Given the description of an element on the screen output the (x, y) to click on. 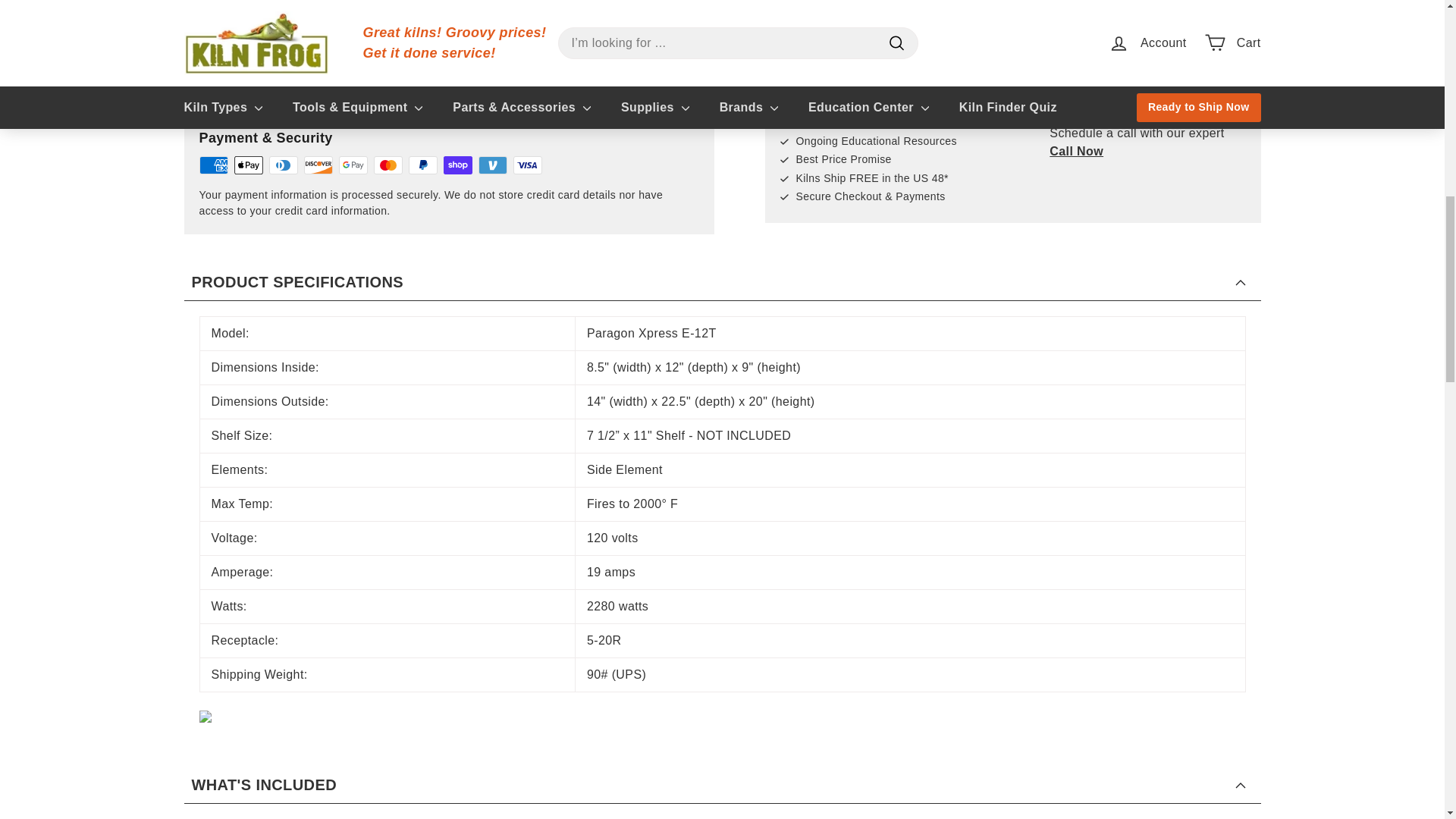
Diners Club (282, 165)
Discover (316, 165)
Visa (526, 165)
Venmo (491, 165)
Apple Pay (247, 165)
PayPal (421, 165)
Shop Pay (456, 165)
American Express (212, 165)
Google Pay (351, 165)
Mastercard (386, 165)
